Given the description of an element on the screen output the (x, y) to click on. 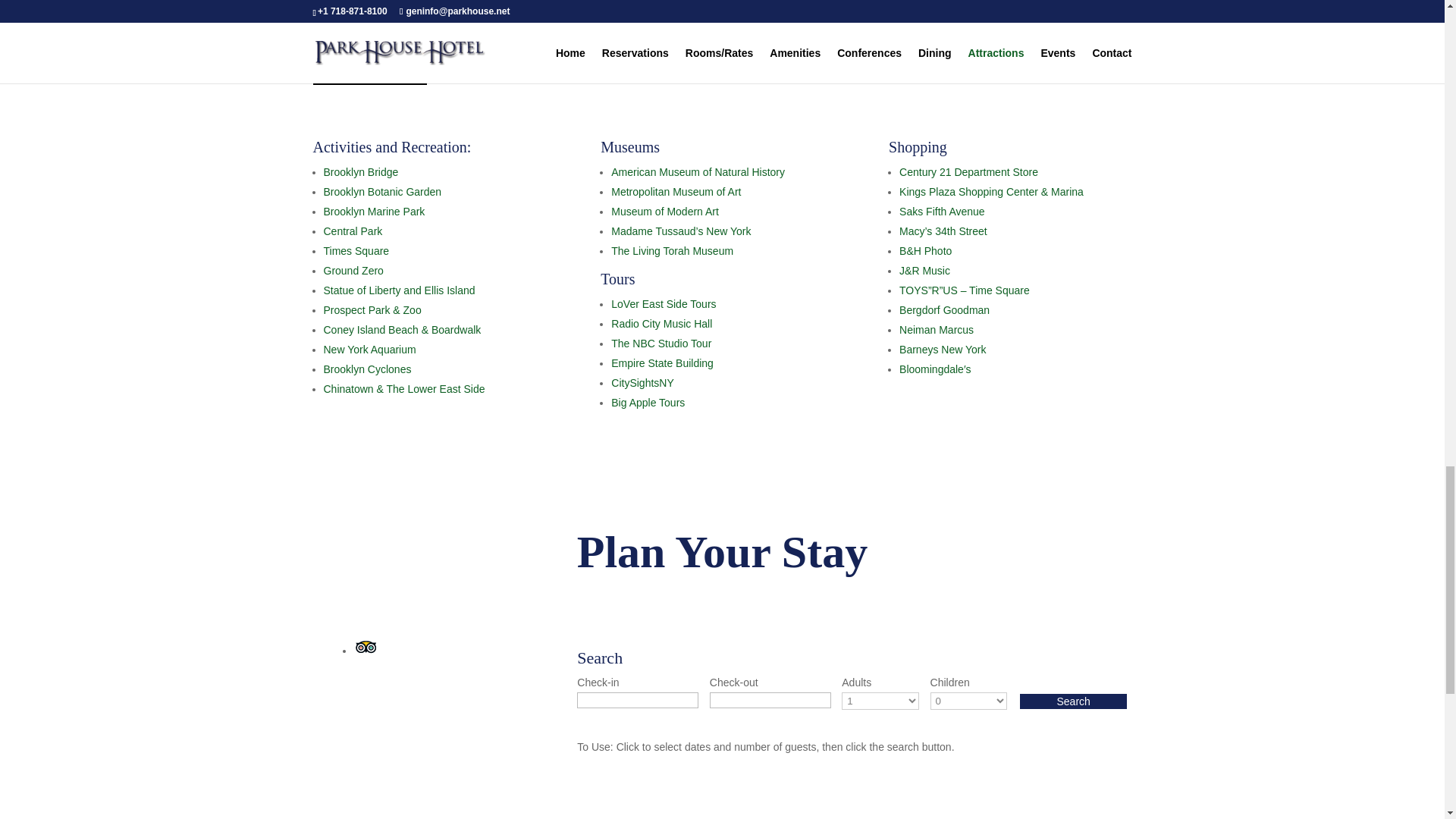
Statue of Liberty and Ellis Island (398, 290)
CitySightsNY (641, 382)
Empire State Building (662, 363)
Saks Fifth Avenue (942, 211)
Metropolitan Museum of Art (676, 191)
Times Square (355, 250)
Brooklyn Marine Park (374, 211)
Museum of Modern Art (665, 211)
Search (1072, 701)
Century 21 Department Store (968, 172)
